Given the description of an element on the screen output the (x, y) to click on. 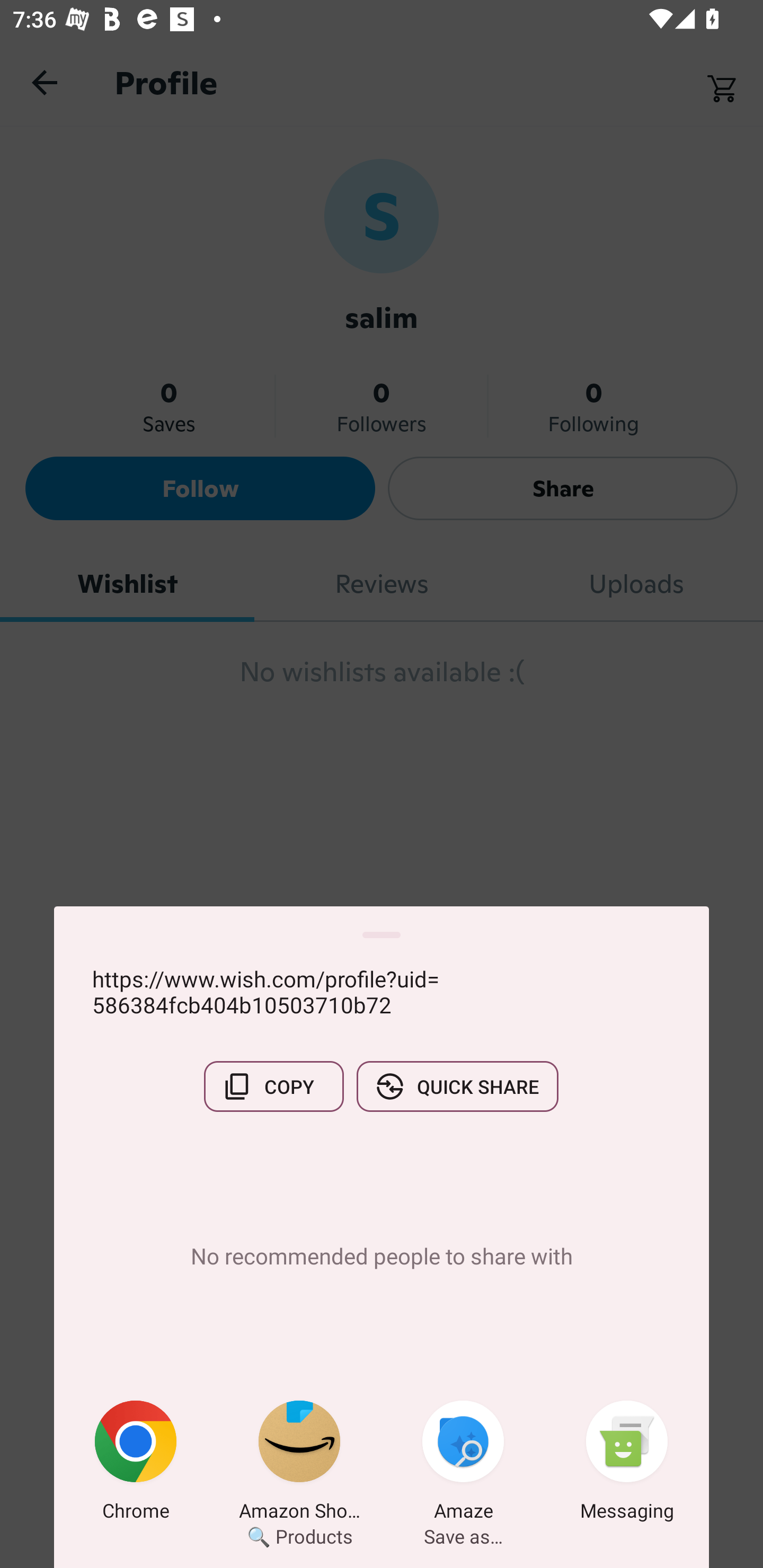
COPY (273, 1086)
QUICK SHARE (457, 1086)
Chrome (135, 1463)
Amazon Shopping 🔍 Products (299, 1463)
Amaze Save as… (463, 1463)
Messaging (626, 1463)
